Given the description of an element on the screen output the (x, y) to click on. 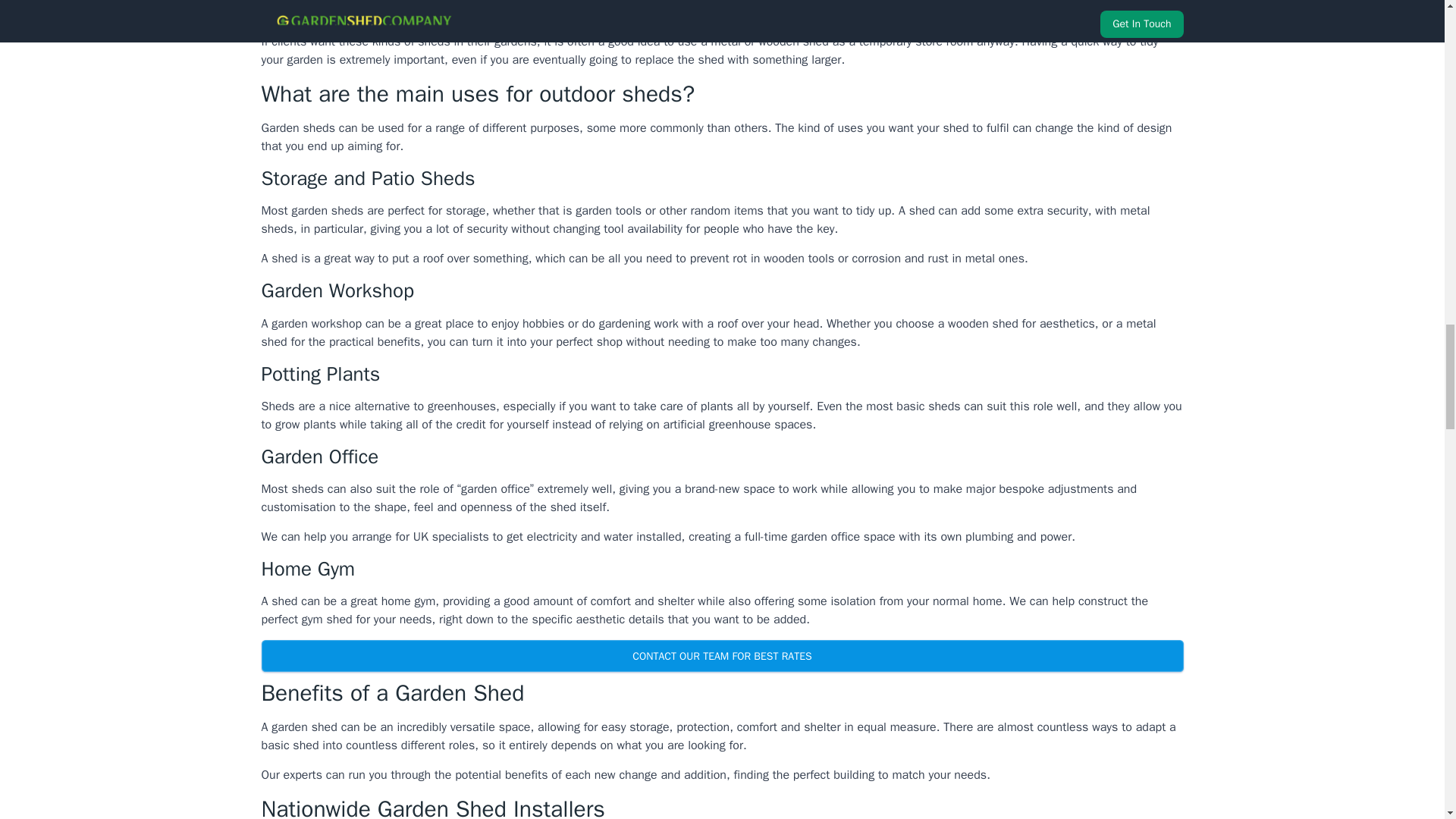
CONTACT OUR TEAM FOR BEST RATES (721, 655)
